Given the description of an element on the screen output the (x, y) to click on. 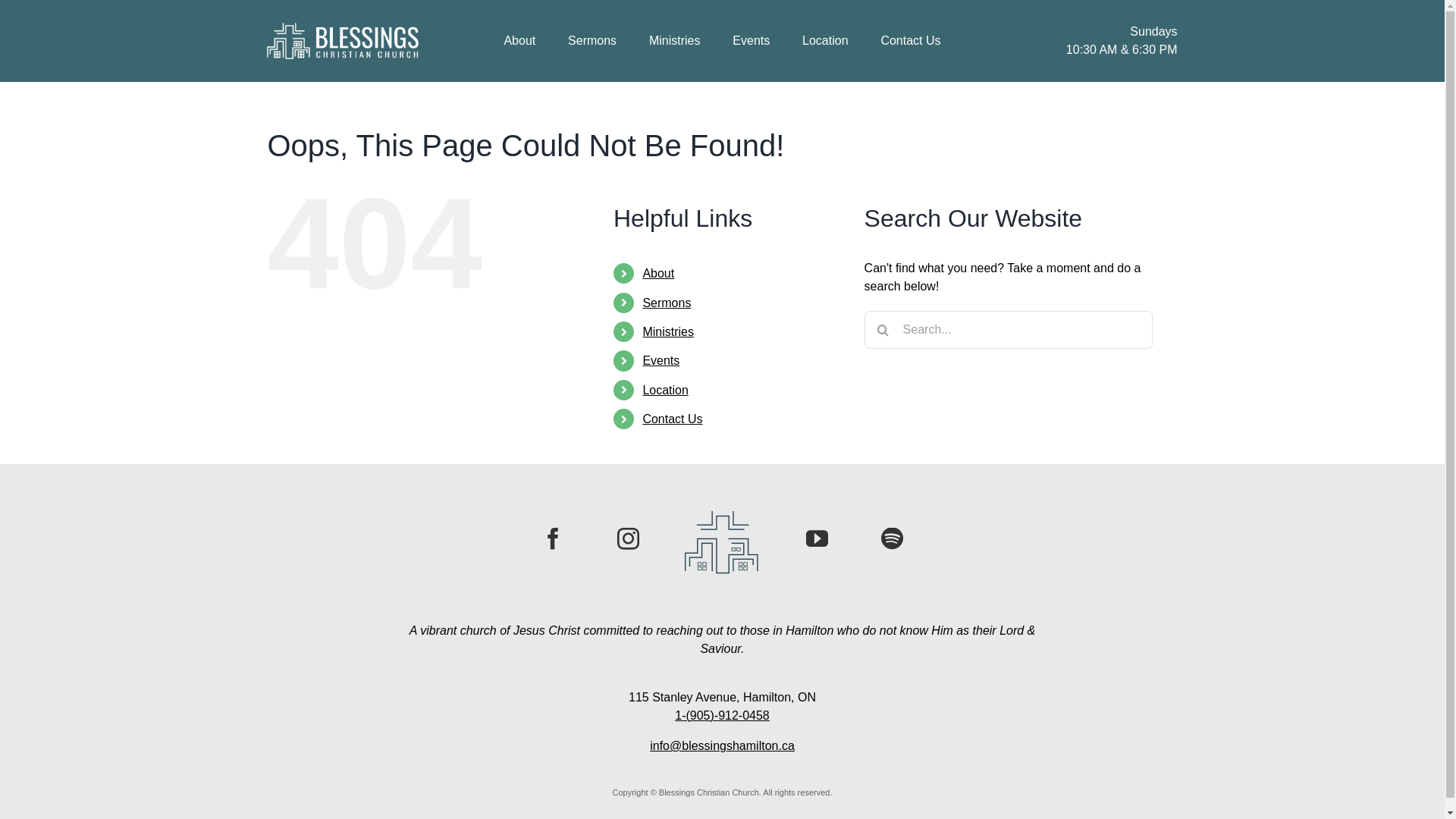
Location Element type: text (665, 389)
Location Element type: text (825, 40)
Events Element type: text (750, 40)
Sermons Element type: text (591, 40)
Ministries Element type: text (667, 331)
Contact Us Element type: text (672, 418)
Contact Us Element type: text (910, 40)
info@blessingshamilton.ca Element type: text (721, 745)
About Element type: text (658, 272)
Sermons Element type: text (666, 302)
Events Element type: text (660, 360)
1-(905)-912-0458 Element type: text (721, 715)
About Element type: text (519, 40)
Ministries Element type: text (674, 40)
